Given the description of an element on the screen output the (x, y) to click on. 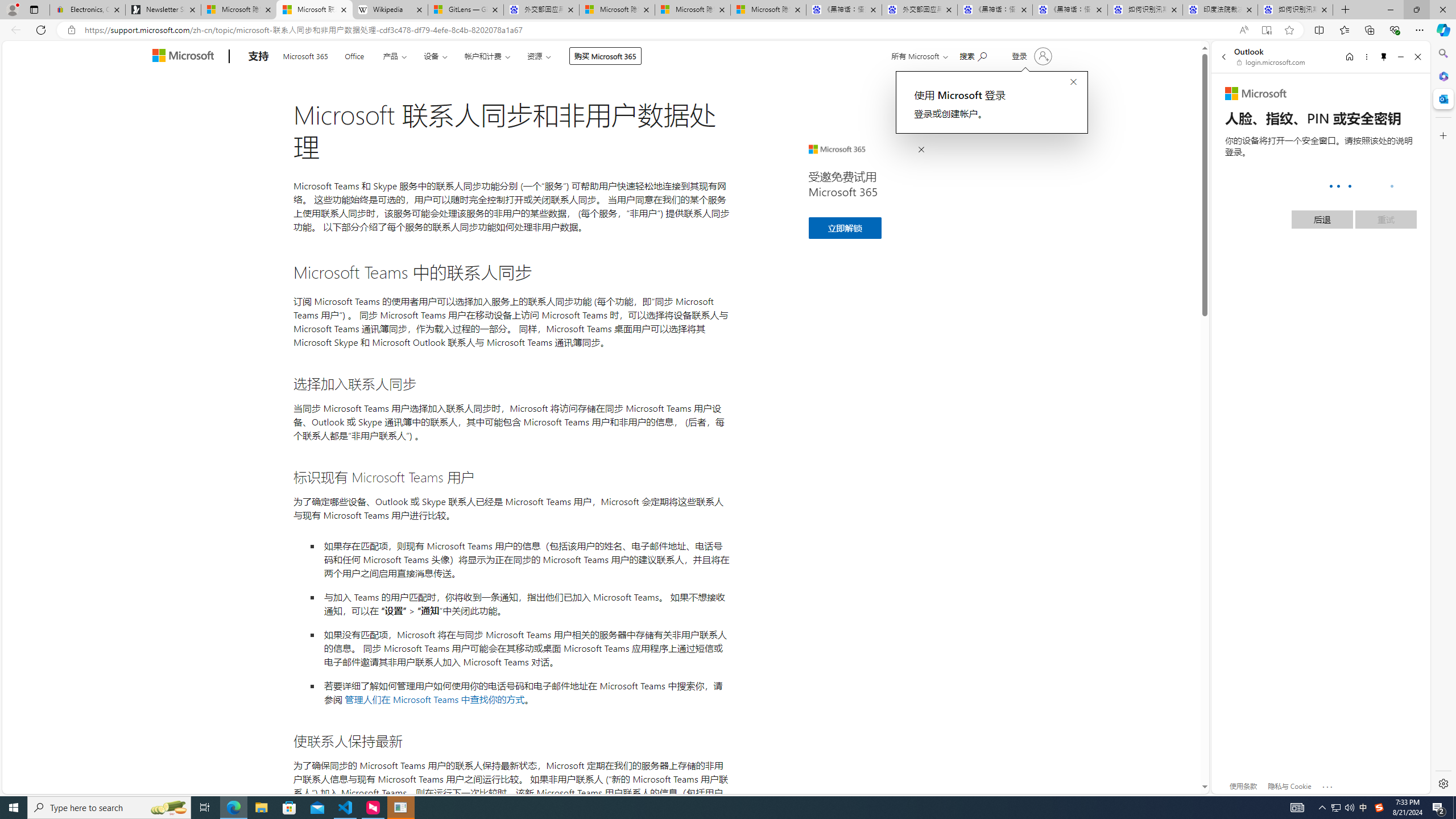
Electronics, Cars, Fashion, Collectibles & More | eBay (87, 9)
